Given the description of an element on the screen output the (x, y) to click on. 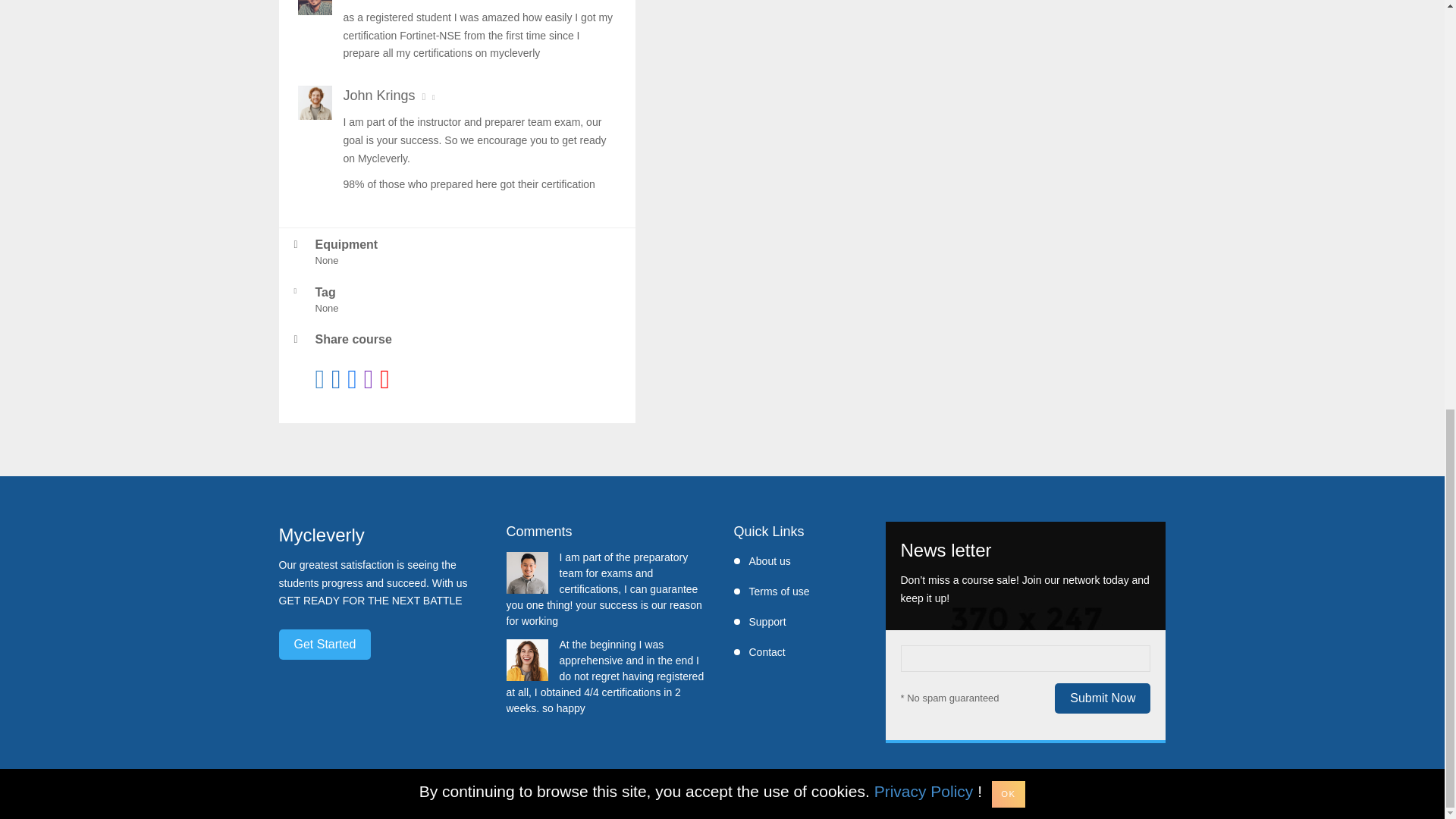
twitter (319, 379)
pinterest (335, 379)
Submit now (1102, 698)
facebook (369, 379)
facebook (351, 379)
google plus (385, 379)
